Given the description of an element on the screen output the (x, y) to click on. 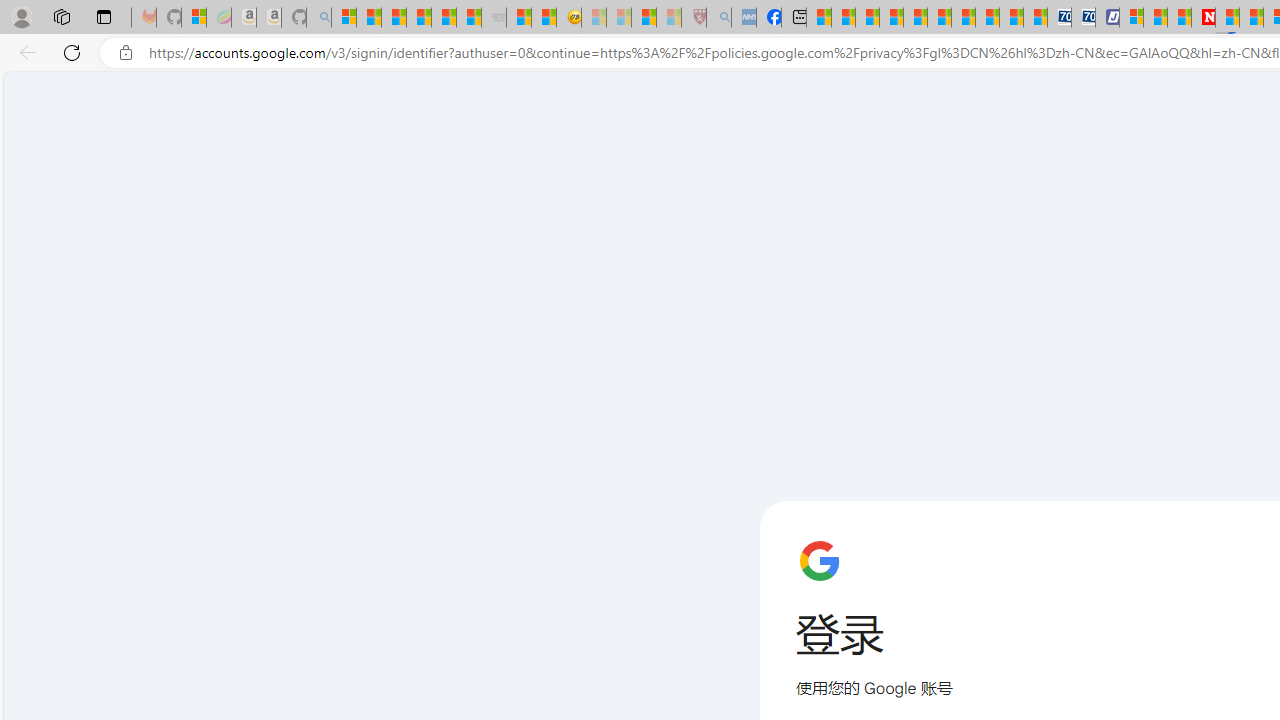
New Report Confirms 2023 Was Record Hot | Watch (443, 17)
12 Popular Science Lies that Must be Corrected - Sleeping (668, 17)
